Given the description of an element on the screen output the (x, y) to click on. 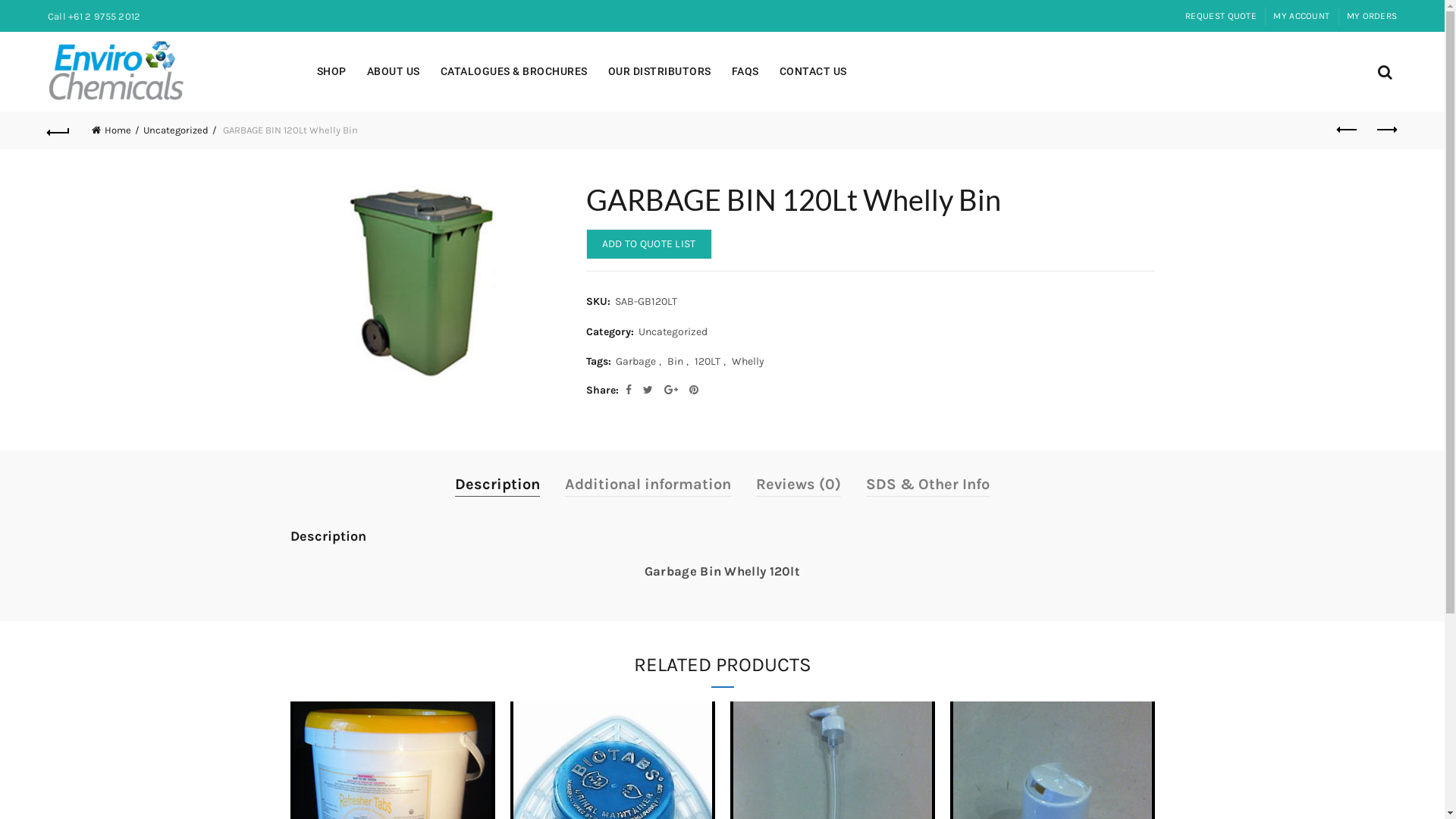
ADD TO QUOTE LIST Element type: text (648, 244)
REQUEST QUOTE Element type: text (1220, 15)
Next product Element type: text (1385, 130)
Whelly Element type: text (747, 361)
Uncategorized Element type: text (672, 331)
Previous product Element type: text (1347, 130)
Bin Element type: text (675, 361)
SDS & Other Info Element type: text (927, 484)
CATALOGUES & BROCHURES Element type: text (513, 71)
CONTACT US Element type: text (812, 71)
Back Element type: text (59, 130)
Home Element type: text (115, 129)
FAQS Element type: text (744, 71)
MY ACCOUNT Element type: text (1301, 15)
Garbage Element type: text (635, 361)
MY ORDERS Element type: text (1371, 15)
garbage_bin_ 120lt_otto_bin Element type: hover (425, 280)
garbage_bin_ 120lt_otto_bin Element type: hover (424, 280)
Additional information Element type: text (647, 484)
Description Element type: text (497, 484)
Reviews (0) Element type: text (798, 484)
OUR DISTRIBUTORS Element type: text (659, 71)
Uncategorized Element type: text (179, 129)
120LT Element type: text (707, 361)
ABOUT US Element type: text (393, 71)
SHOP Element type: text (331, 71)
